Given the description of an element on the screen output the (x, y) to click on. 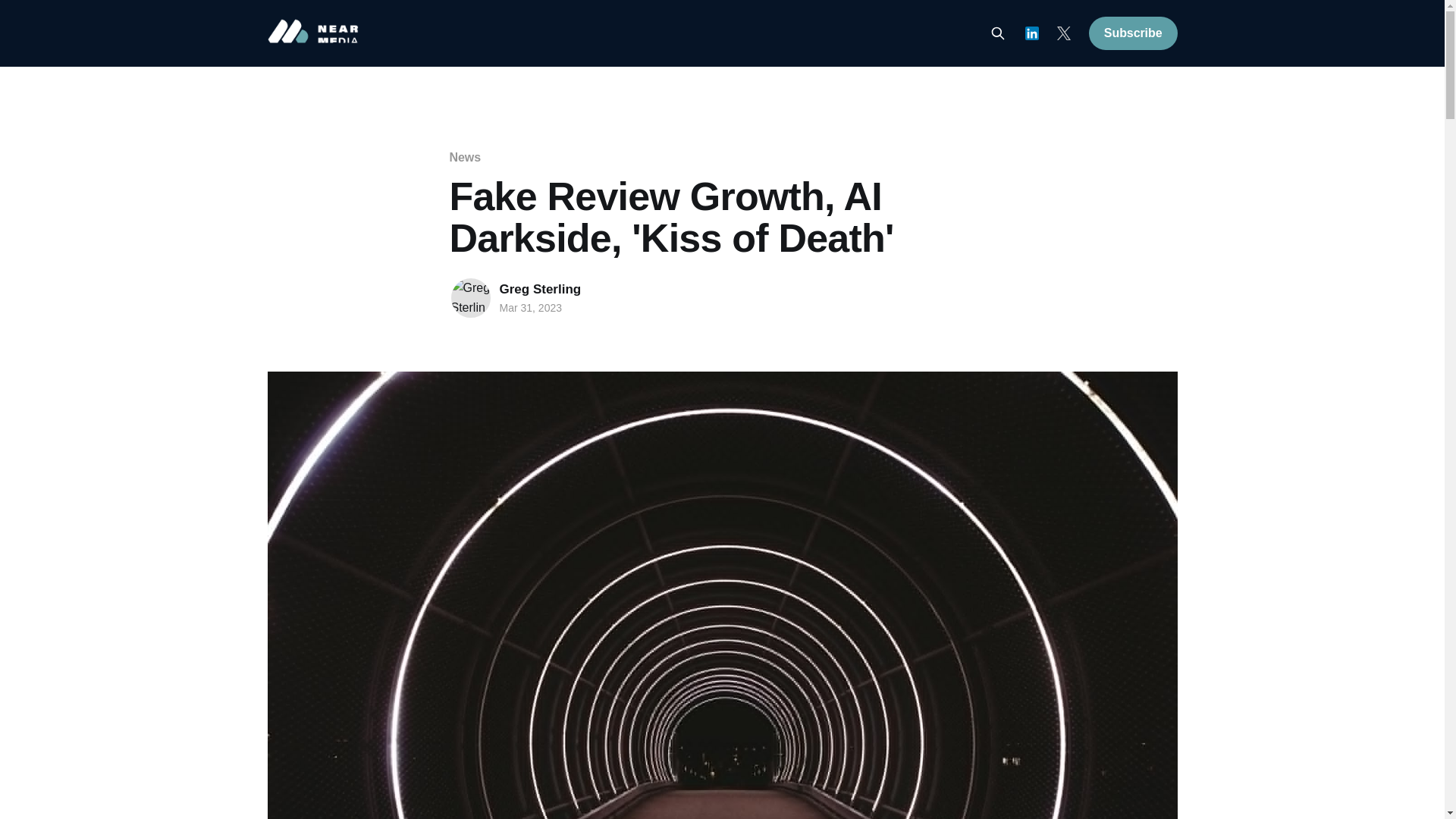
News (464, 156)
Greg Sterling (539, 288)
Subscribe (1133, 32)
